Given the description of an element on the screen output the (x, y) to click on. 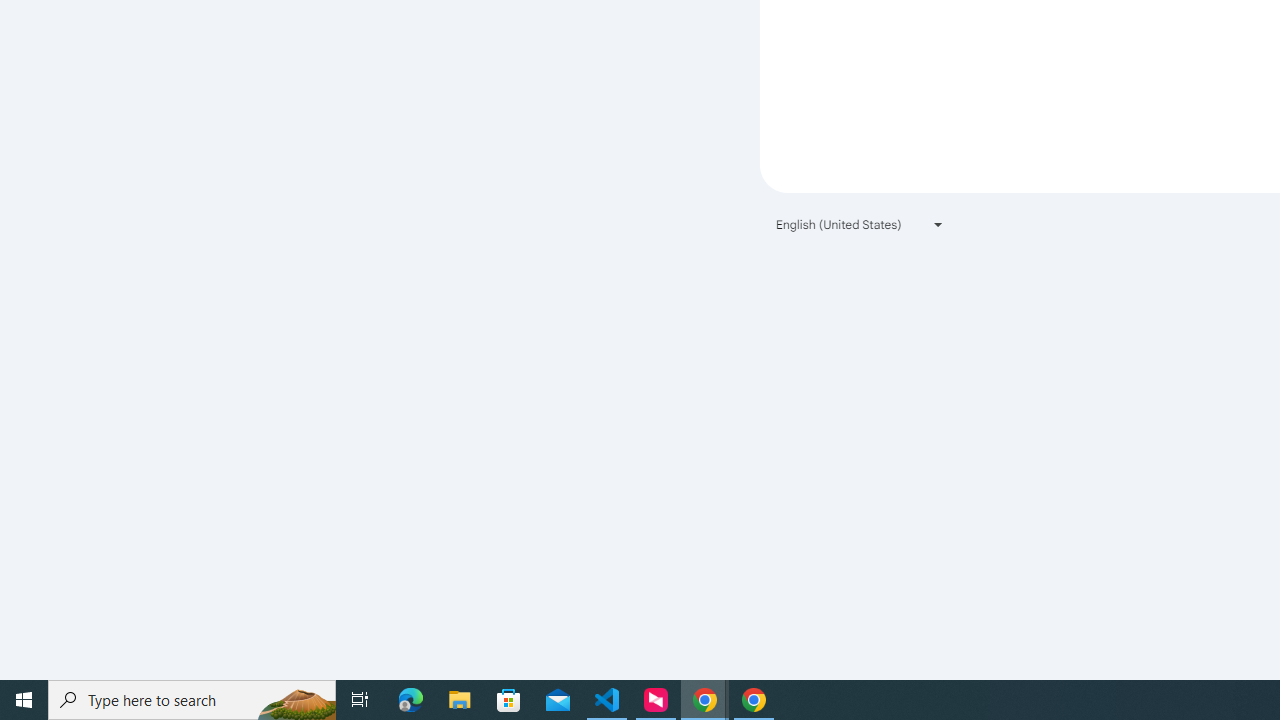
English (United States) (860, 224)
